Given the description of an element on the screen output the (x, y) to click on. 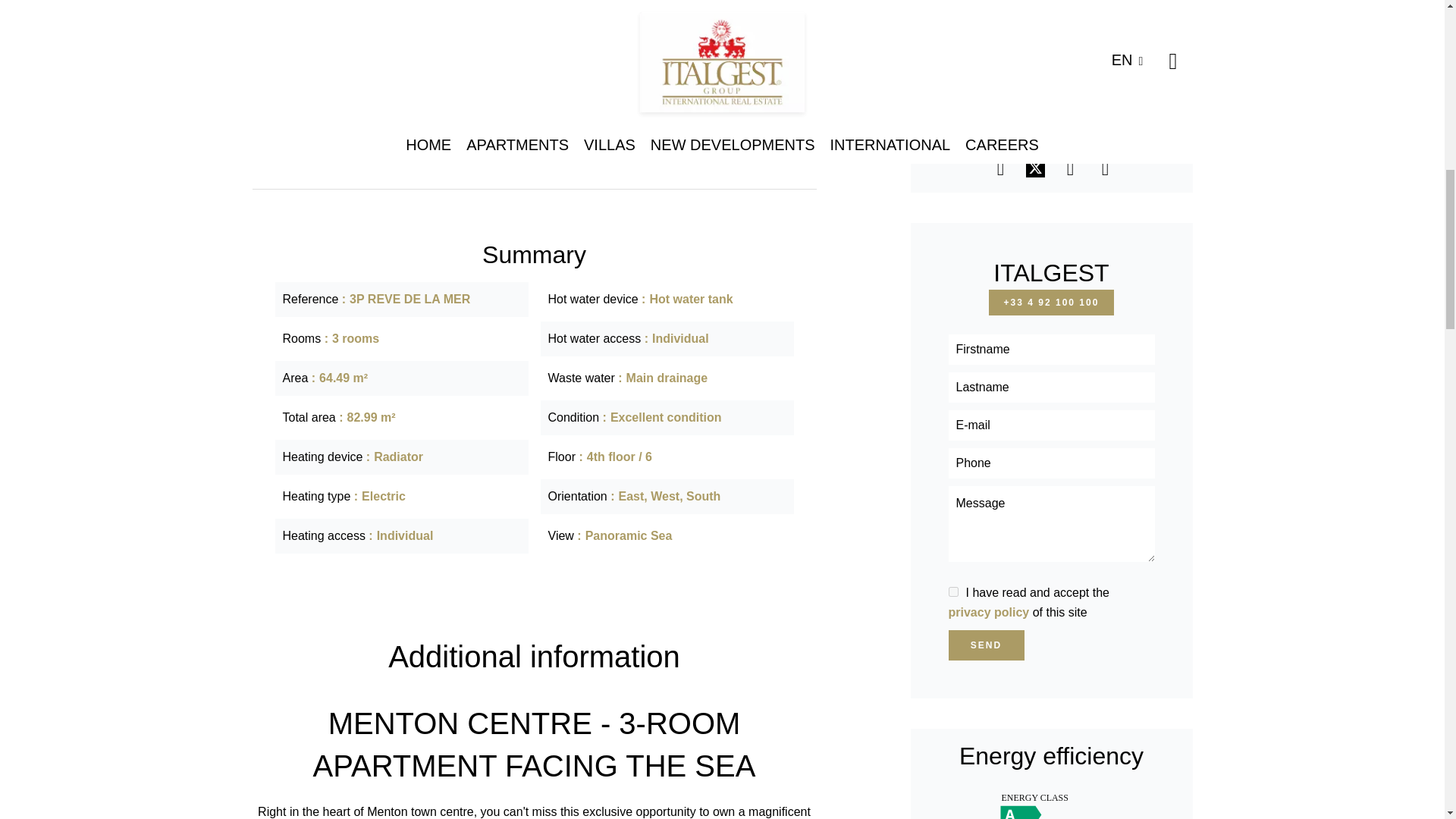
on (952, 592)
